Given the description of an element on the screen output the (x, y) to click on. 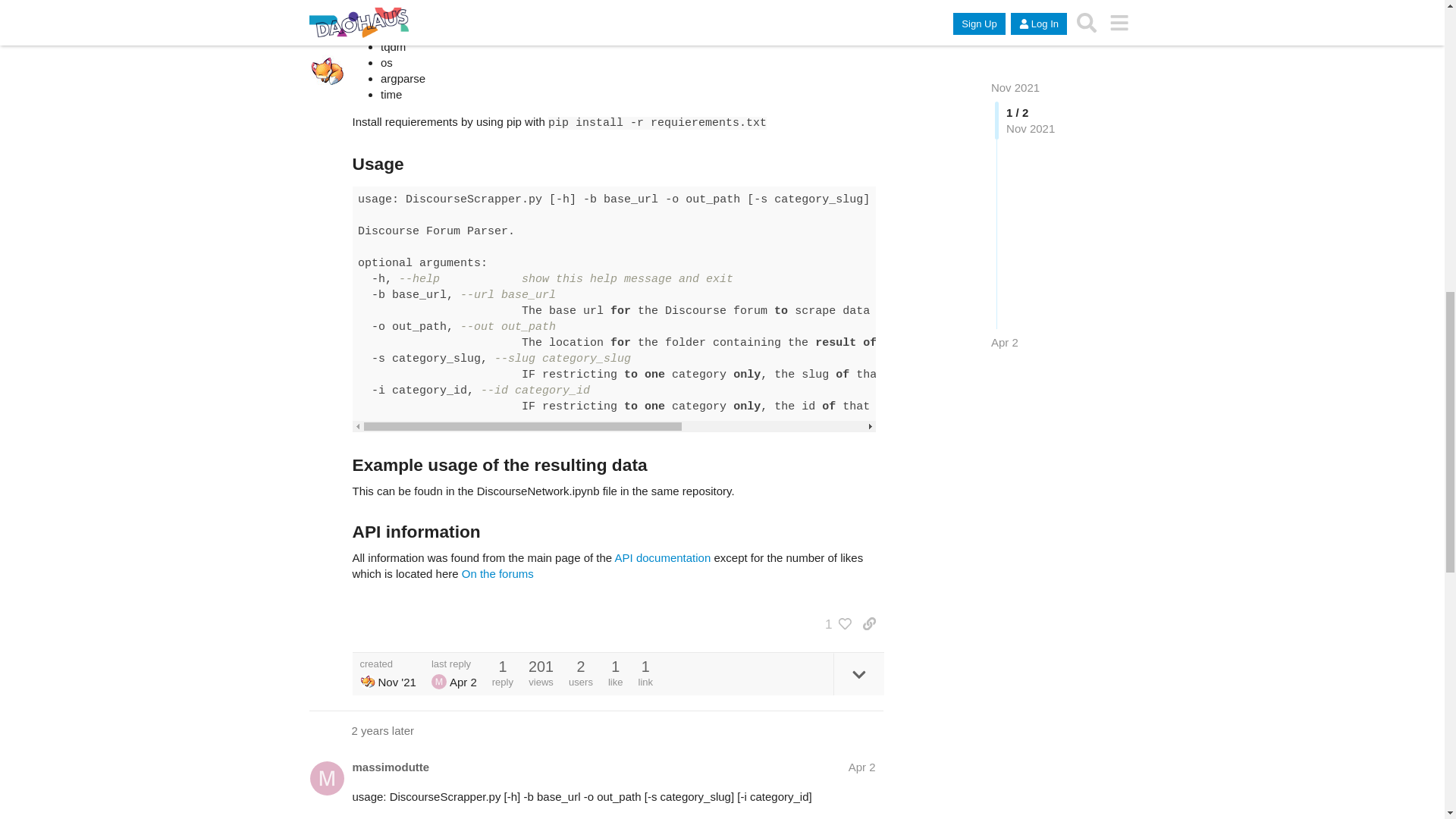
Apr 2, 2024 3:22 pm (463, 681)
Post date (862, 766)
Apr 2 (862, 766)
expand topic details (857, 673)
On the forums (497, 573)
last reply (453, 664)
1 person liked this post (833, 623)
Xqua (366, 681)
massimodutte (390, 766)
share a link to this post (869, 623)
